Given the description of an element on the screen output the (x, y) to click on. 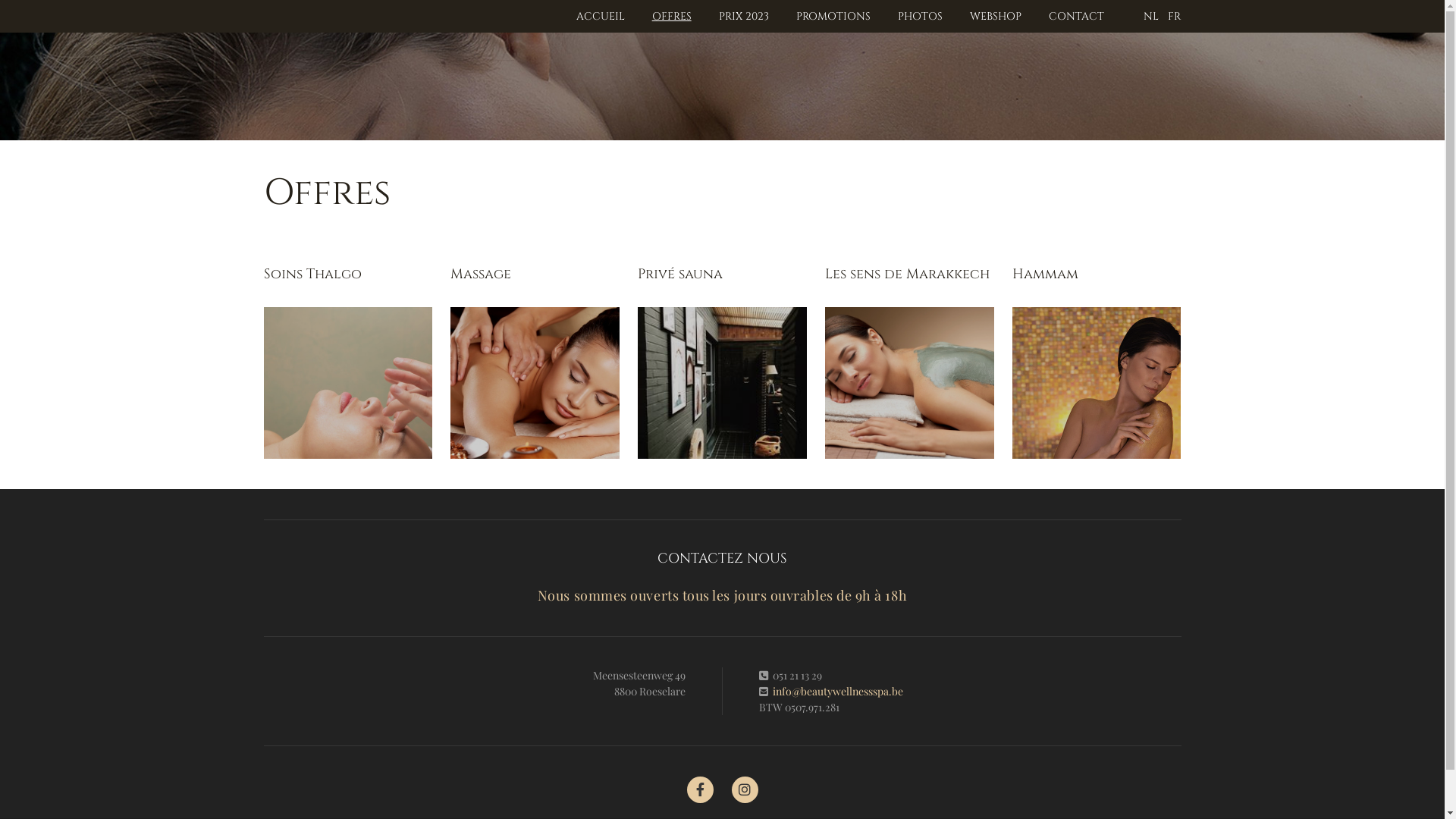
PHOTOS Element type: text (919, 16)
PRIX 2023 Element type: text (743, 16)
info@beautywellnessspa.be Element type: text (837, 691)
ACCUEIL Element type: text (600, 16)
NL Element type: text (1150, 16)
OFFRES Element type: text (671, 16)
PROMOTIONS Element type: text (833, 16)
CONTACT Element type: text (1076, 16)
FR Element type: text (1173, 16)
WEBSHOP Element type: text (995, 16)
